Given the description of an element on the screen output the (x, y) to click on. 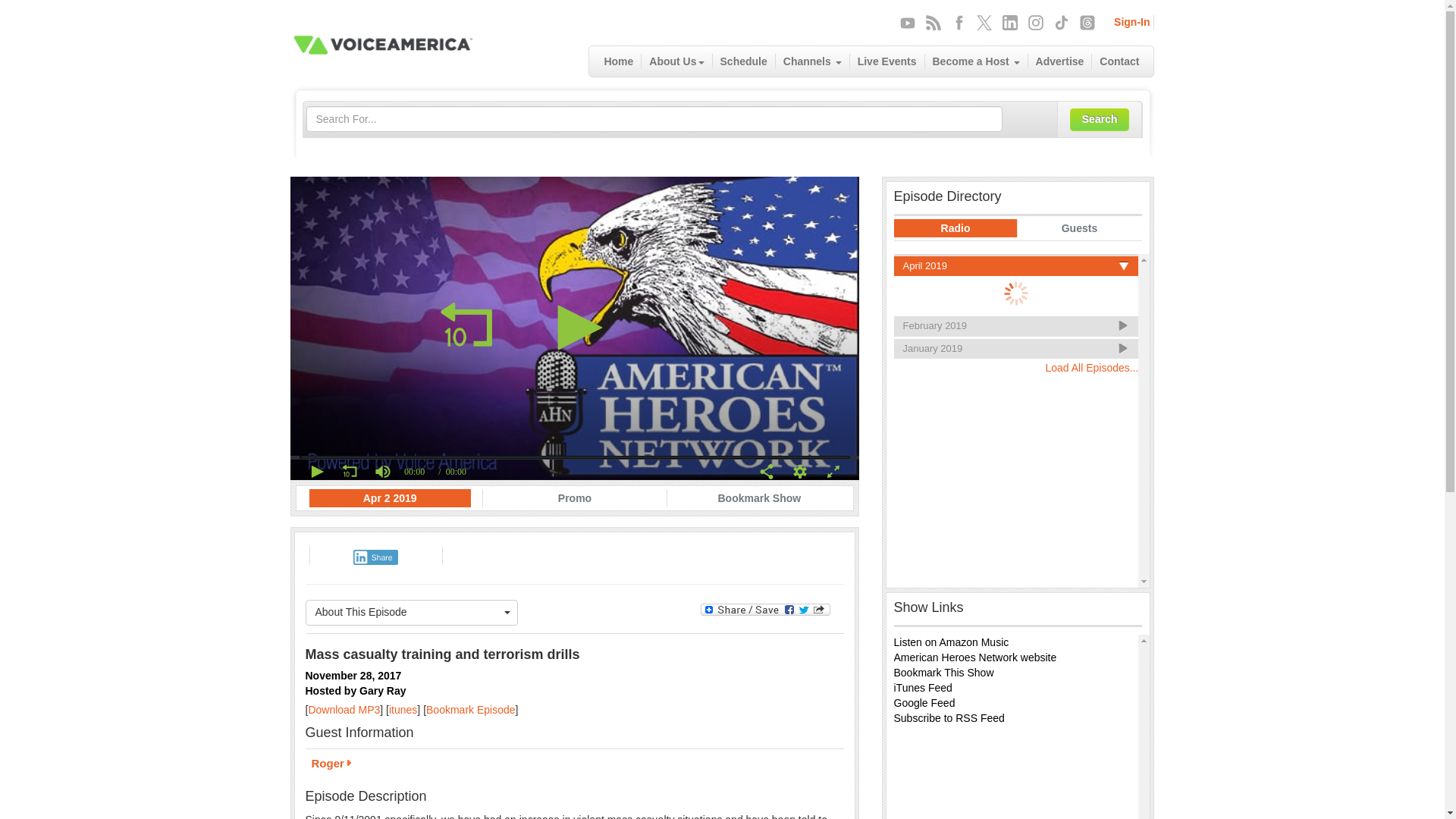
Sign-In (1131, 21)
Live Events (887, 61)
Share (375, 557)
Home (618, 61)
Channels (813, 61)
Promo (575, 497)
Bookmark Show (759, 497)
Schedule (744, 61)
Apr 2 2019 (389, 497)
